Given the description of an element on the screen output the (x, y) to click on. 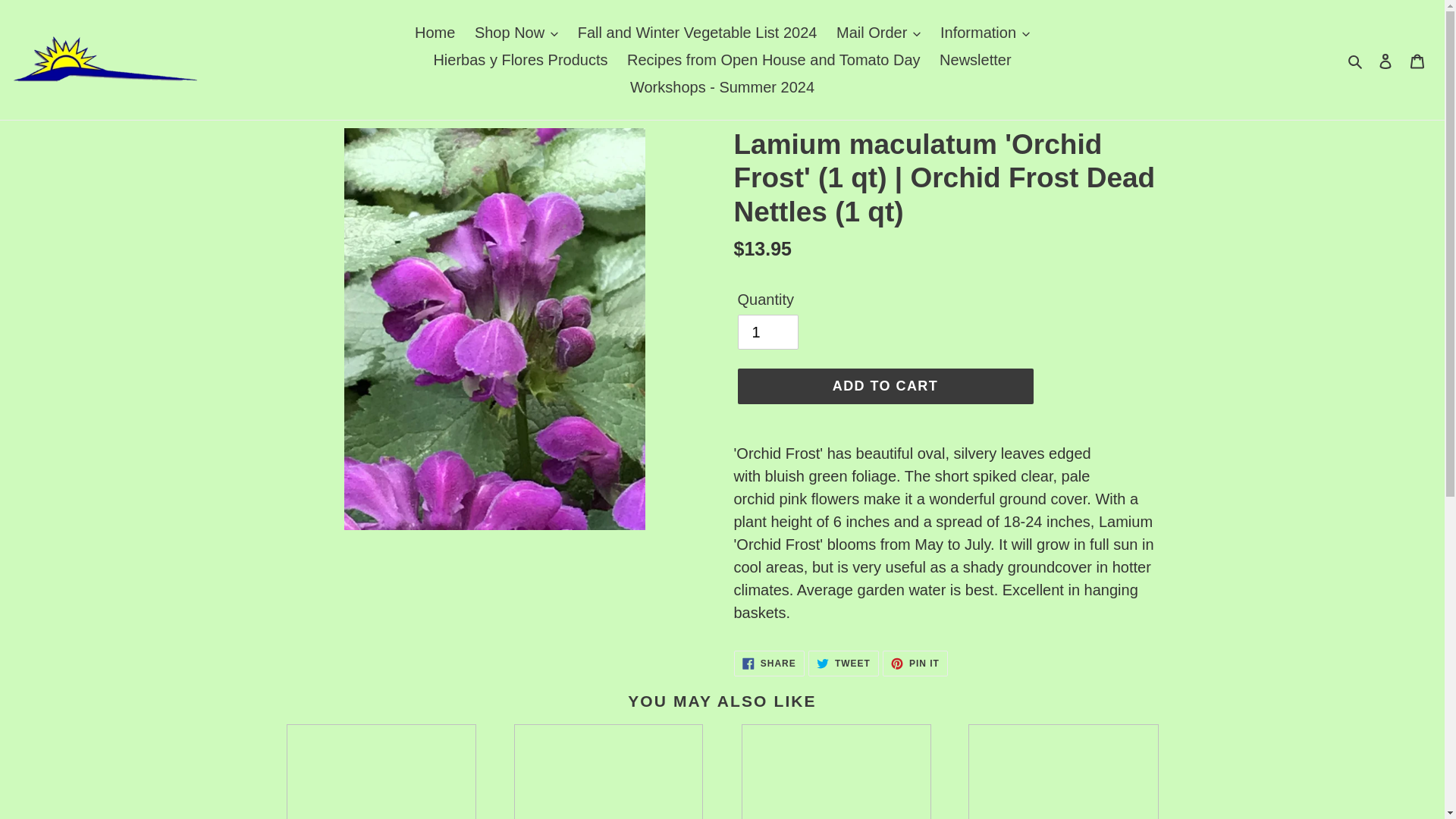
1 (766, 331)
Home (435, 31)
Mail Order (878, 31)
Hierbas y Flores Products (519, 59)
Recipes from Open House and Tomato Day (774, 59)
Information (984, 31)
Shop Now (516, 31)
Fall and Winter Vegetable List 2024 (697, 31)
